Given the description of an element on the screen output the (x, y) to click on. 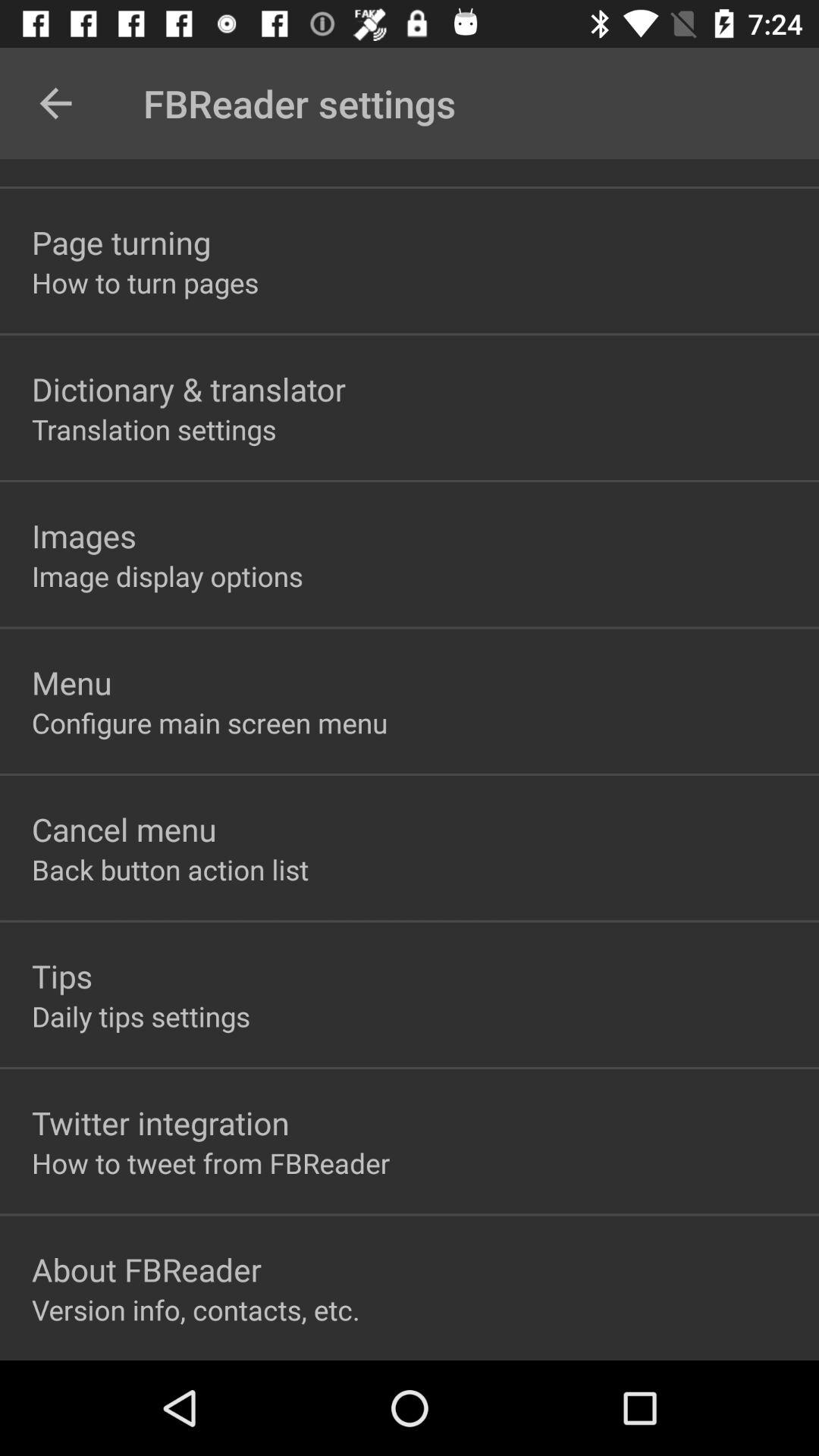
press the about fbreader (146, 1269)
